Given the description of an element on the screen output the (x, y) to click on. 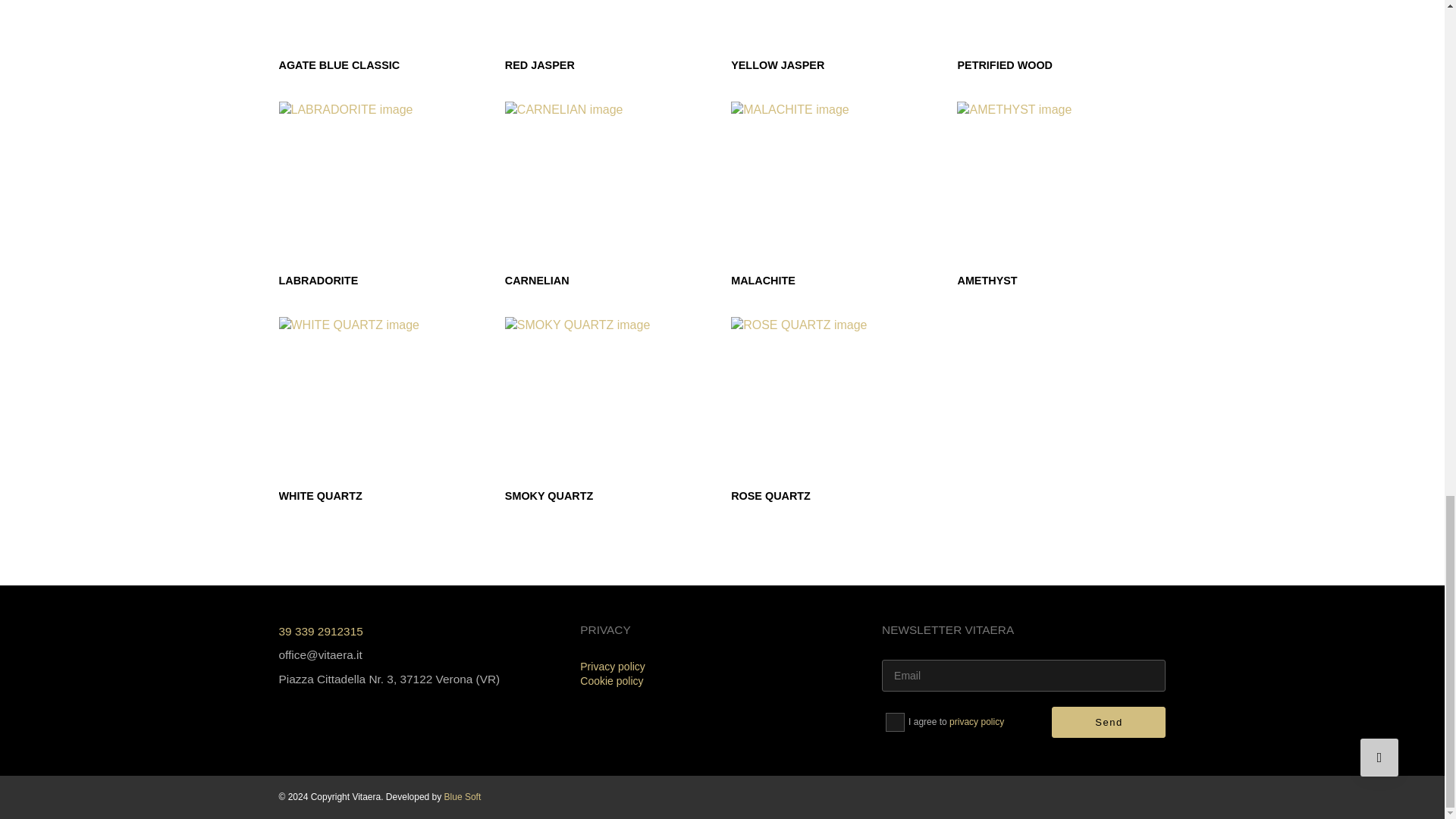
RED JASPER (609, 35)
PETRIFIED WOOD (1061, 35)
YELLOW JASPER (834, 35)
LABRADORITE (383, 193)
AGATE BLUE CLASSIC (383, 35)
